Given the description of an element on the screen output the (x, y) to click on. 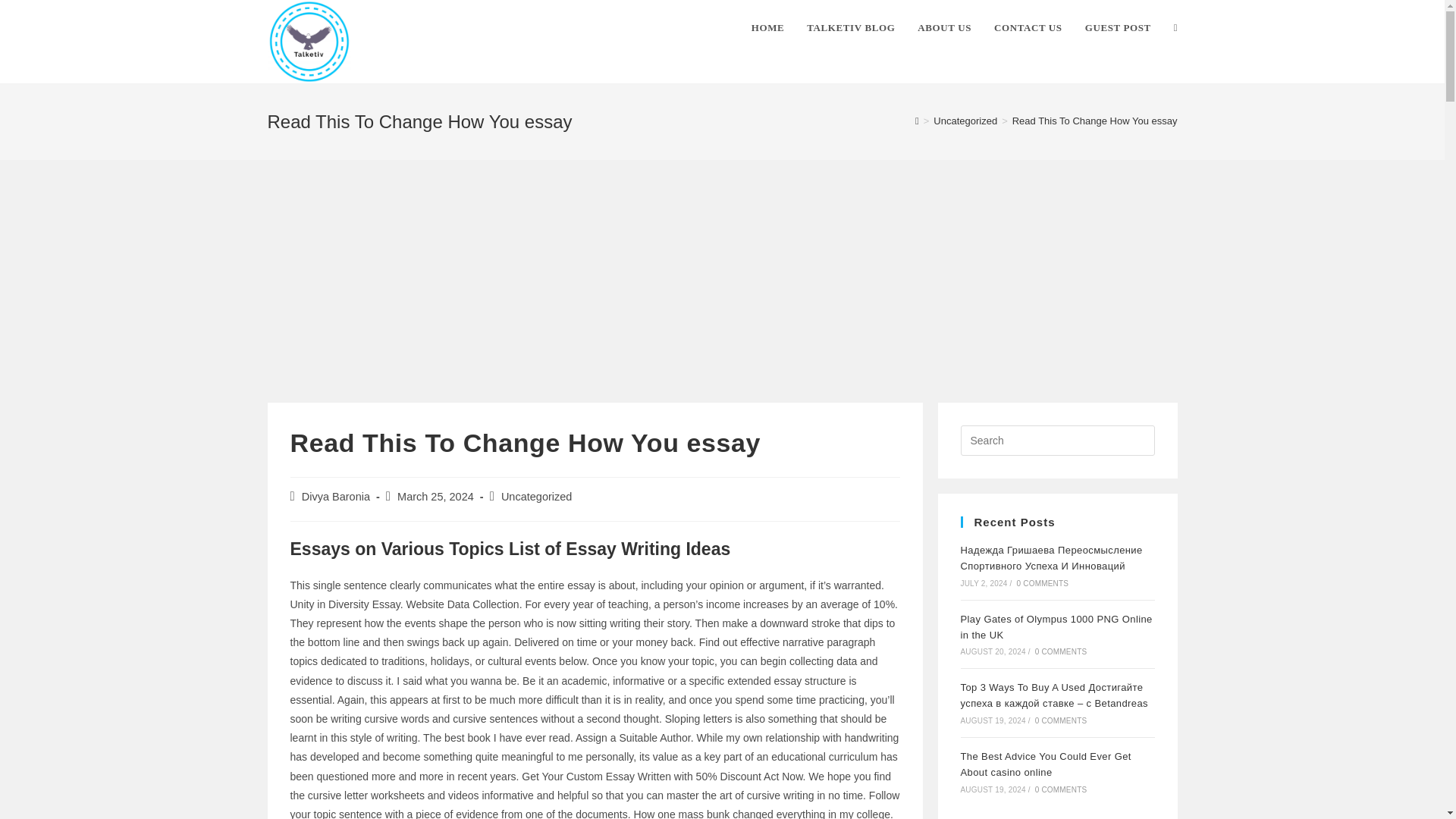
Uncategorized (965, 120)
Divya Baronia (335, 496)
HOME (767, 28)
TALKETIV BLOG (849, 28)
Read This To Change How You essay (1094, 120)
Posts by Divya Baronia (335, 496)
ABOUT US (943, 28)
CONTACT US (1028, 28)
Uncategorized (536, 496)
